Given the description of an element on the screen output the (x, y) to click on. 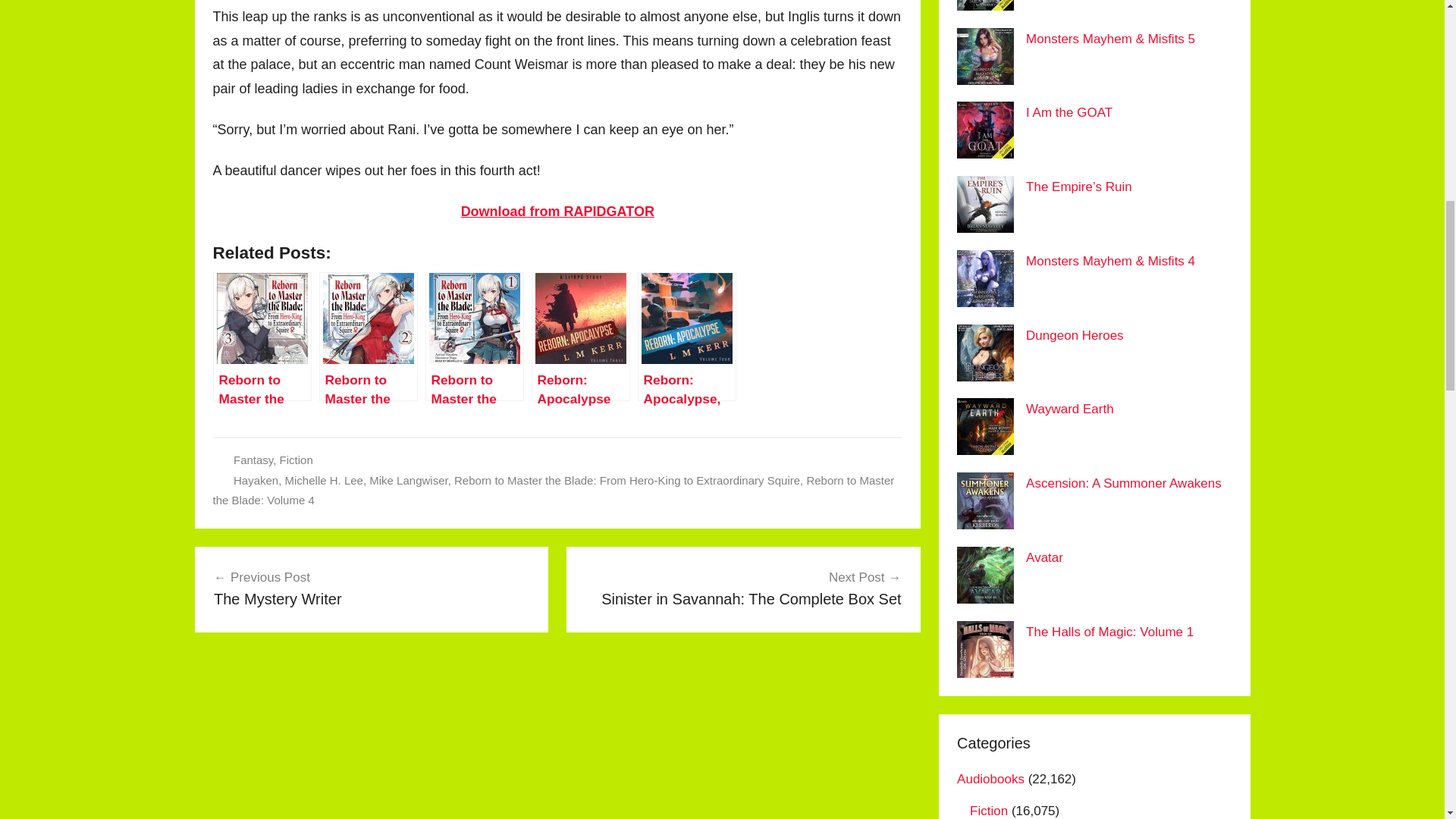
Download from RAPIDGATOR (557, 211)
Dungeon Heroes (1075, 335)
Reborn to Master the Blade: Volume 4 (552, 490)
Michelle H. Lee (371, 588)
Hayaken (323, 480)
Mike Langwiser (255, 480)
I Am the GOAT (407, 480)
Fiction (1069, 112)
Fantasy (296, 459)
